Given the description of an element on the screen output the (x, y) to click on. 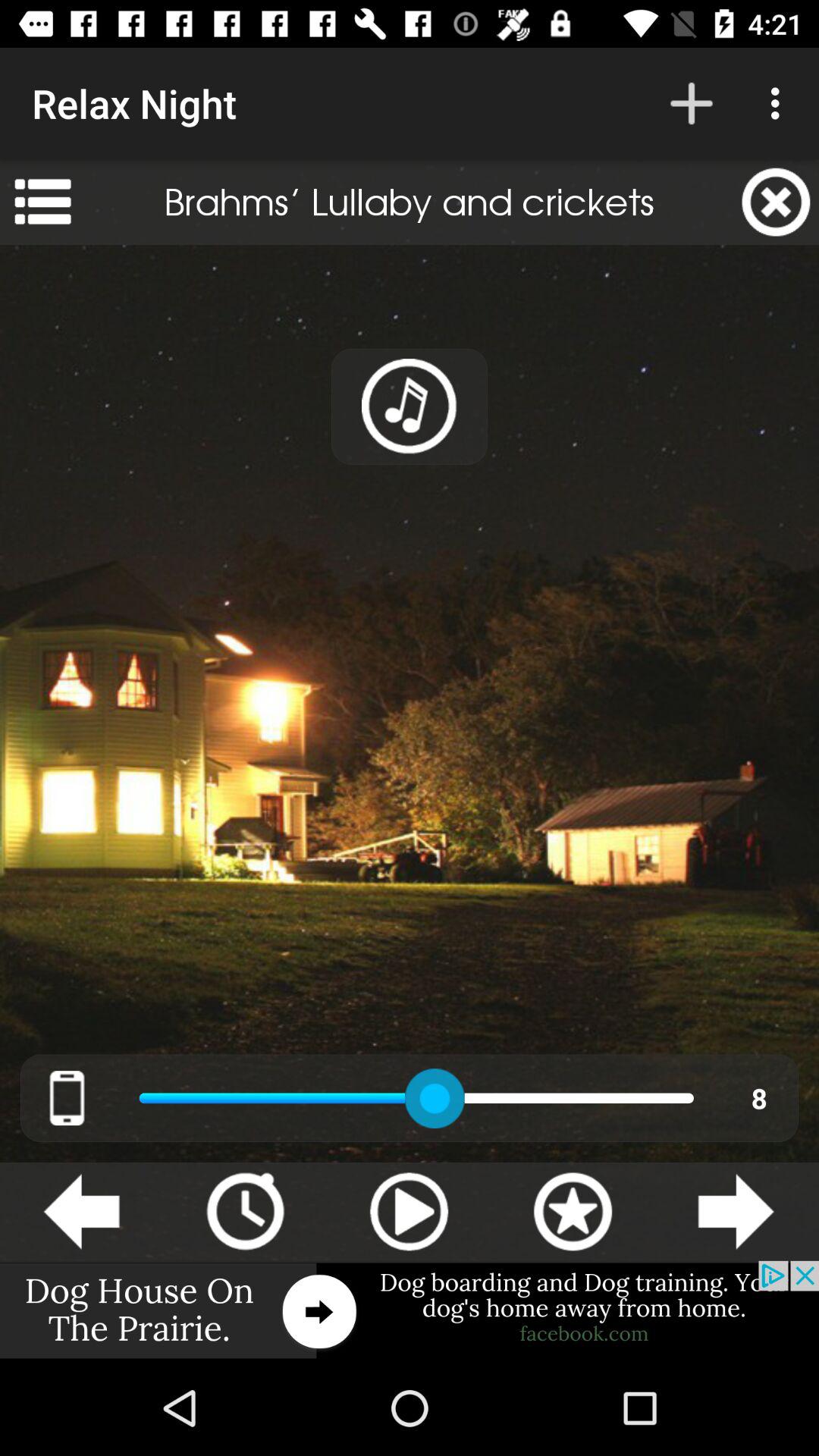
launch the app to the left of the brahms lullaby and item (42, 202)
